Given the description of an element on the screen output the (x, y) to click on. 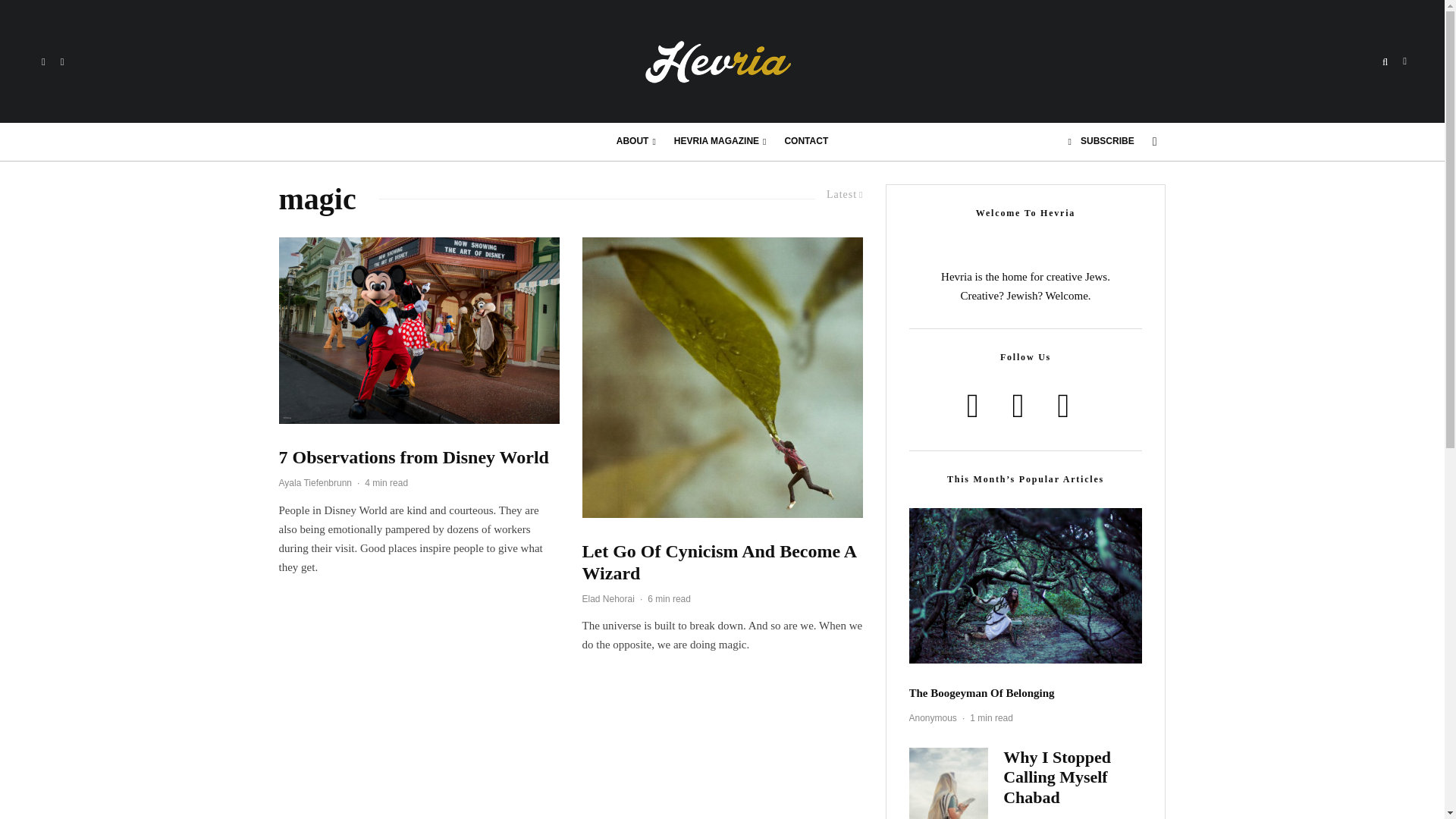
Let Go Of Cynicism And Become A Wizard (722, 562)
Elad Nehorai (608, 597)
ABOUT (636, 141)
HEVRIA MAGAZINE (720, 141)
SUBSCRIBE (1100, 141)
CONTACT (805, 141)
Anonymous (932, 717)
The Boogeyman Of Belonging (981, 693)
7 Observations from Disney World (413, 457)
Ayala Tiefenbrunn (315, 482)
